Given the description of an element on the screen output the (x, y) to click on. 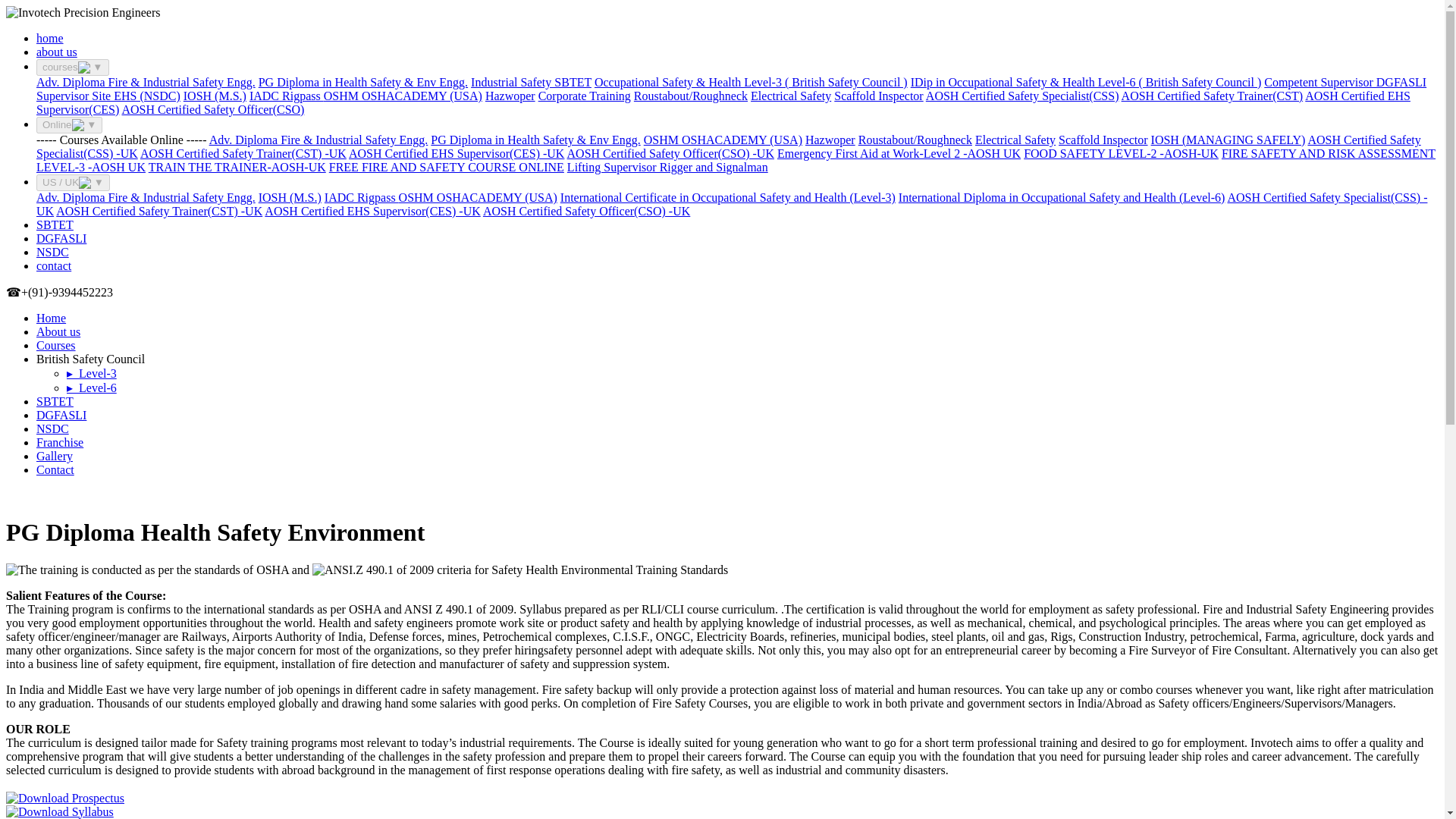
National Skill Development Corporation (52, 251)
British Safety Council (1061, 196)
IADC Rigpass (285, 95)
Corporate Training (584, 95)
Electrical Safety (1015, 139)
Hazwoper (509, 95)
Industrial Safety SBTET (530, 82)
TRAIN THE TRAINER-AOSH-UK (237, 166)
Scaffold Inspector (1102, 139)
Competent Supervisor DGFASLI (1344, 82)
Hazwoper (830, 139)
Scaffold Inspector (878, 95)
FREE FIRE AND SAFETY COURSE ONLINE (446, 166)
Emergency First Aid at Work-Level 2 -AOSH UK (898, 153)
home (50, 38)
